Given the description of an element on the screen output the (x, y) to click on. 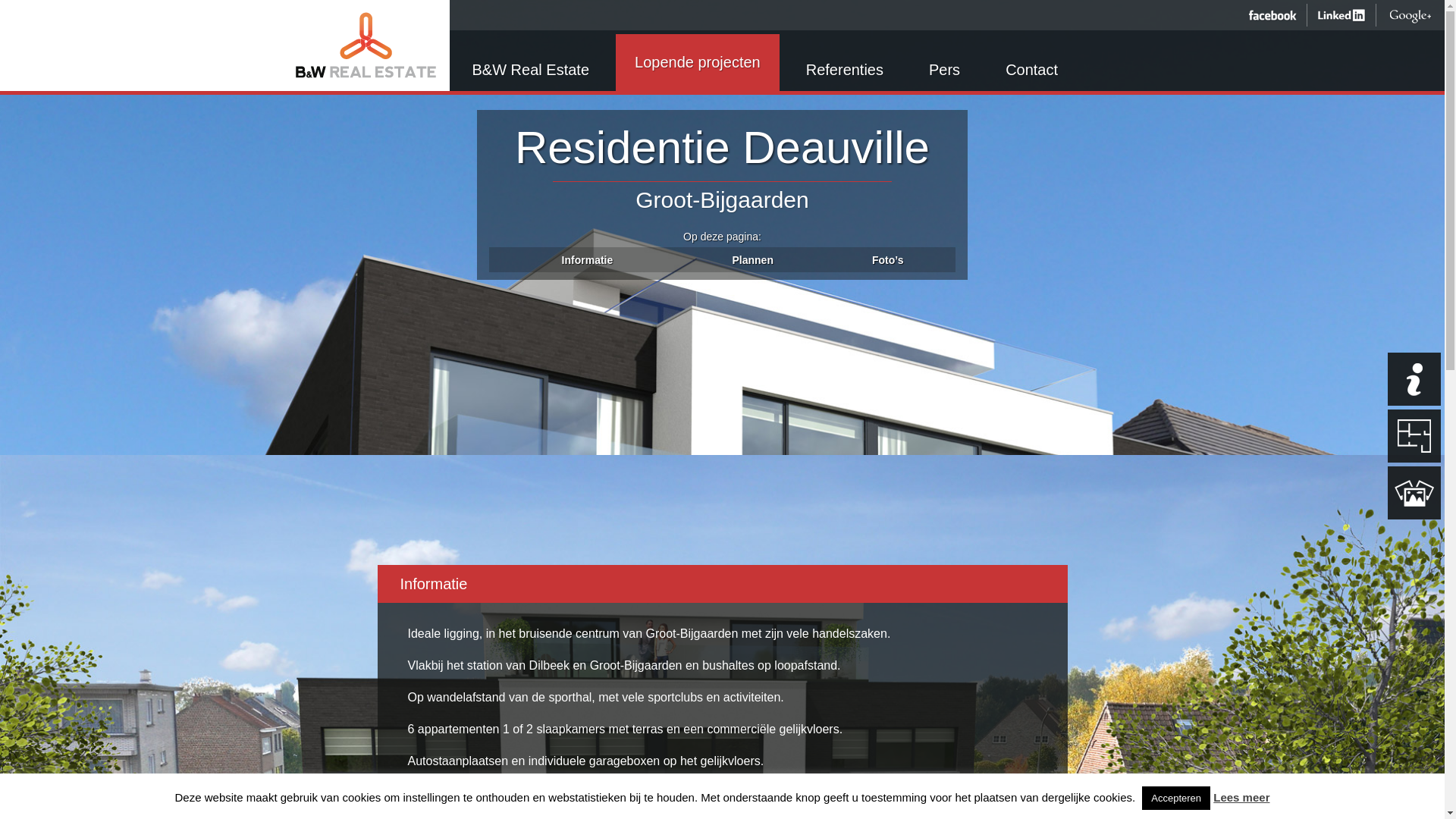
info@bwre.be Element type: text (514, 795)
3 Element type: text (1413, 492)
LinkedIn Element type: text (1341, 14)
Informatie Element type: text (587, 259)
2 Element type: text (1413, 435)
Lopende projecten Element type: text (697, 62)
Cookie- en privacybeleid Element type: text (661, 795)
B&W Real Estate Element type: hover (357, 45)
Pers Element type: text (944, 62)
B&W Real Estate Element type: hover (365, 45)
1 Element type: text (1413, 378)
Referenties Element type: text (844, 62)
B&W Real Estate Element type: text (530, 62)
Lees meer Element type: text (1241, 796)
Facebook Element type: text (1272, 14)
riginal media Element type: text (1131, 792)
Contact Element type: text (1031, 62)
Accepteren Element type: text (1176, 797)
Google+ Element type: text (1410, 14)
Plannen Element type: text (752, 259)
